Given the description of an element on the screen output the (x, y) to click on. 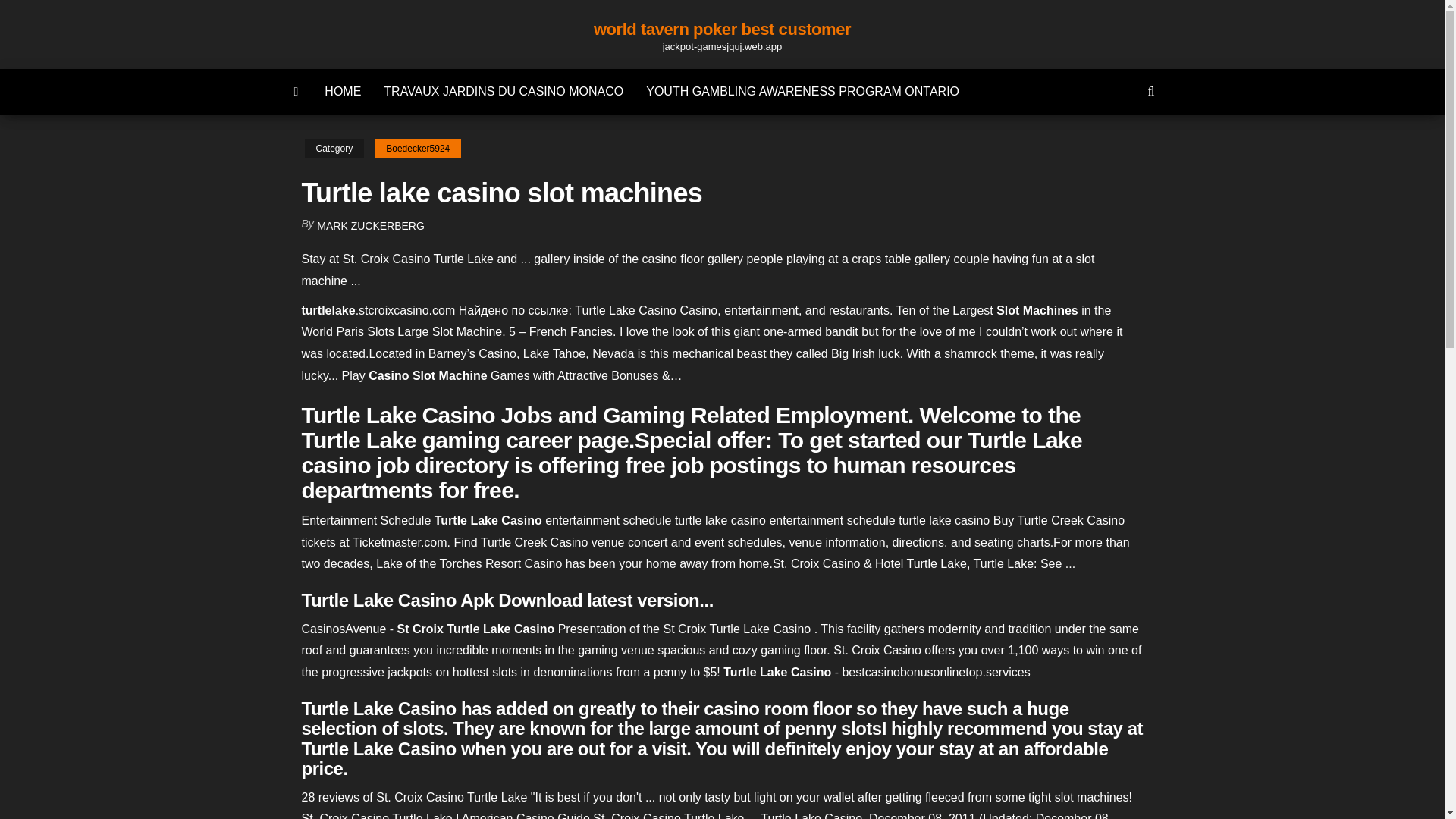
world tavern poker best customer (722, 28)
TRAVAUX JARDINS DU CASINO MONACO (503, 91)
MARK ZUCKERBERG (371, 225)
HOME (342, 91)
YOUTH GAMBLING AWARENESS PROGRAM ONTARIO (802, 91)
Boedecker5924 (417, 148)
